Given the description of an element on the screen output the (x, y) to click on. 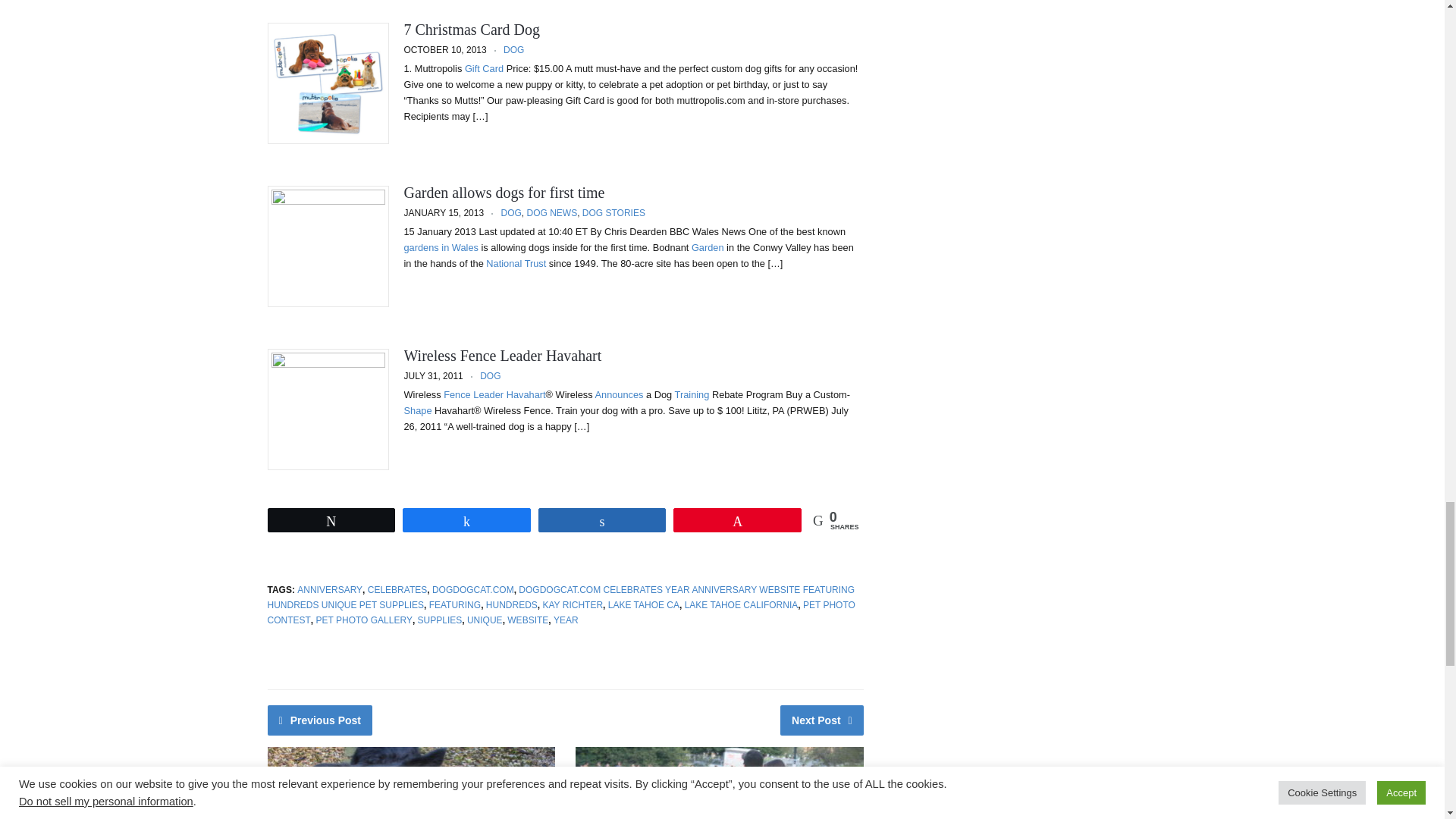
Posts tagged with Fence (457, 394)
Posts tagged with Garden (707, 247)
Posts tagged with Gift card (483, 68)
Posts tagged with gardens in Wales (440, 247)
Posts tagged with National Trust (516, 263)
